Given the description of an element on the screen output the (x, y) to click on. 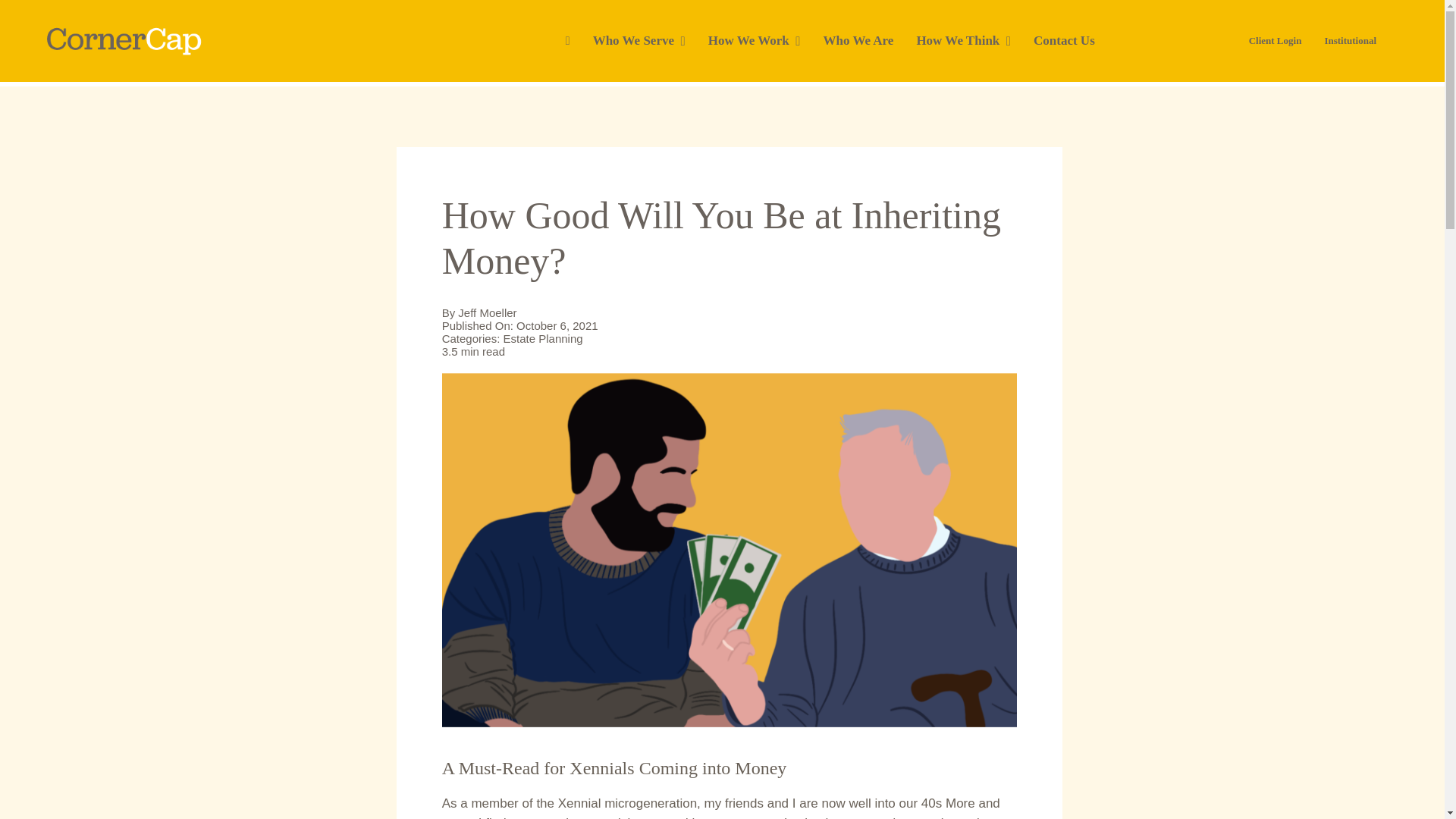
How We Work (765, 40)
Posts by Jeff Moeller (487, 312)
How We Think (974, 40)
Who We Are (868, 40)
Who We Serve (649, 40)
